Given the description of an element on the screen output the (x, y) to click on. 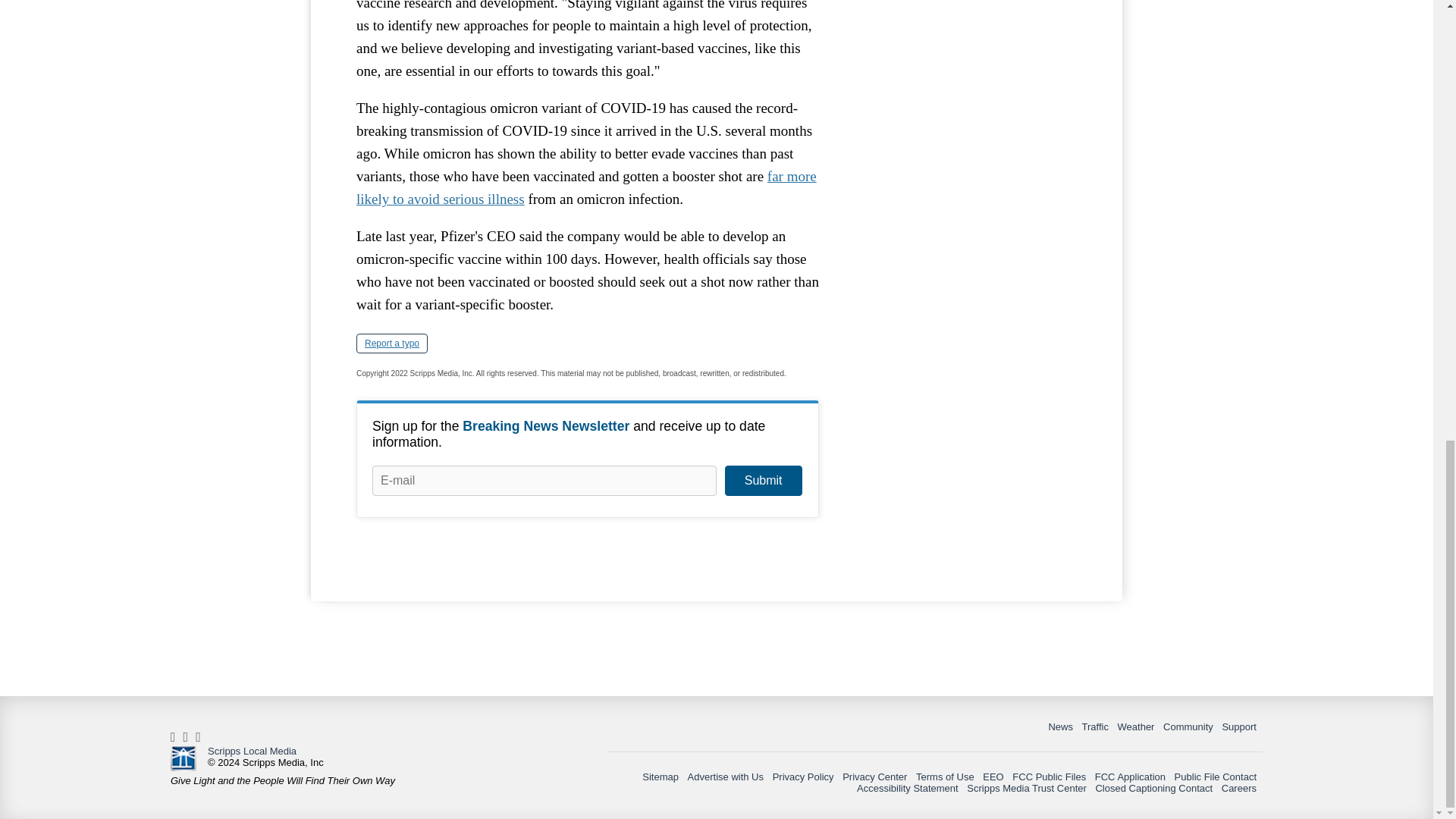
Submit (763, 481)
